Given the description of an element on the screen output the (x, y) to click on. 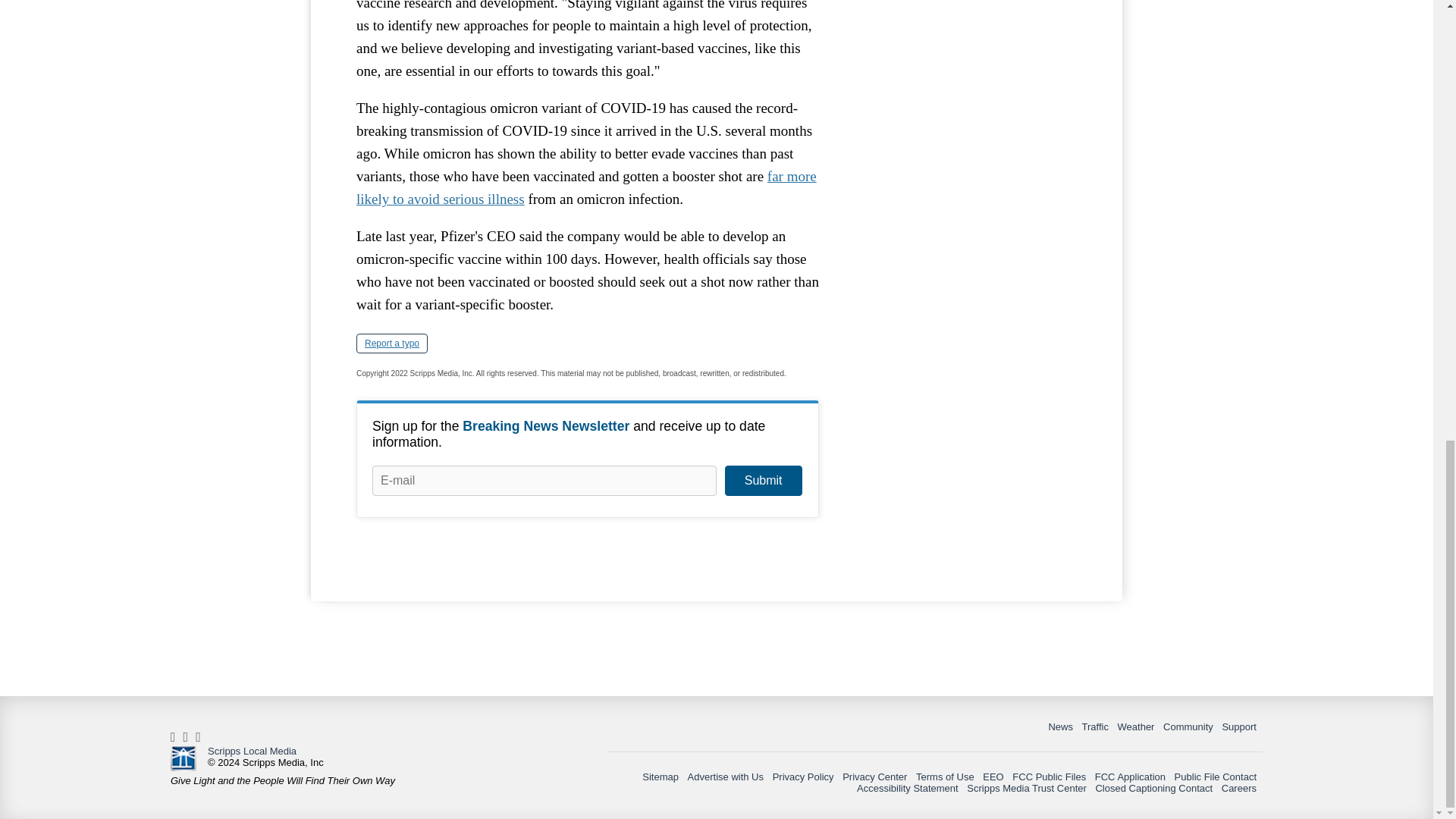
Submit (763, 481)
